Given the description of an element on the screen output the (x, y) to click on. 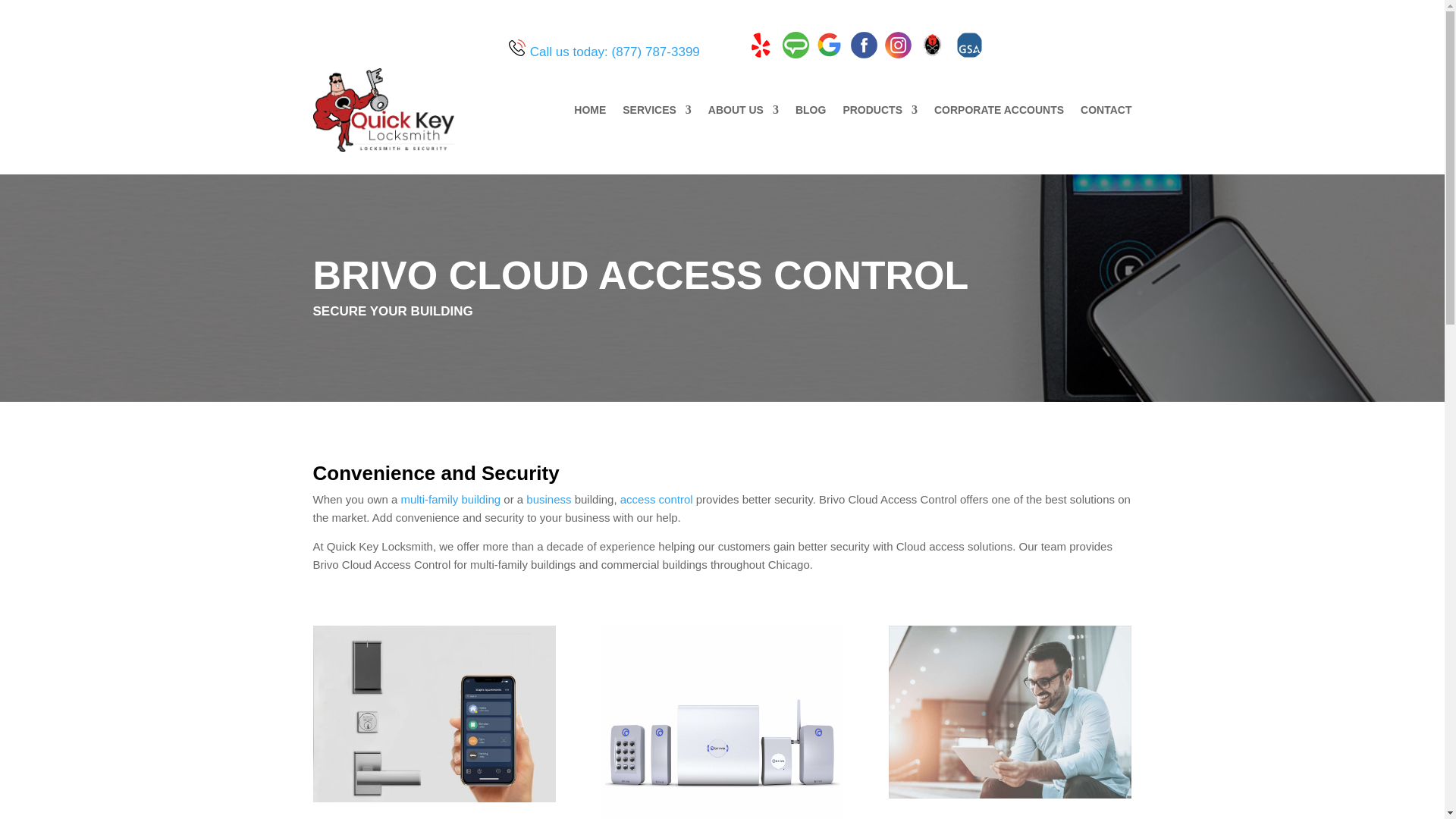
BundleV2-scaled (721, 722)
bmp-maple-door (433, 713)
